Given the description of an element on the screen output the (x, y) to click on. 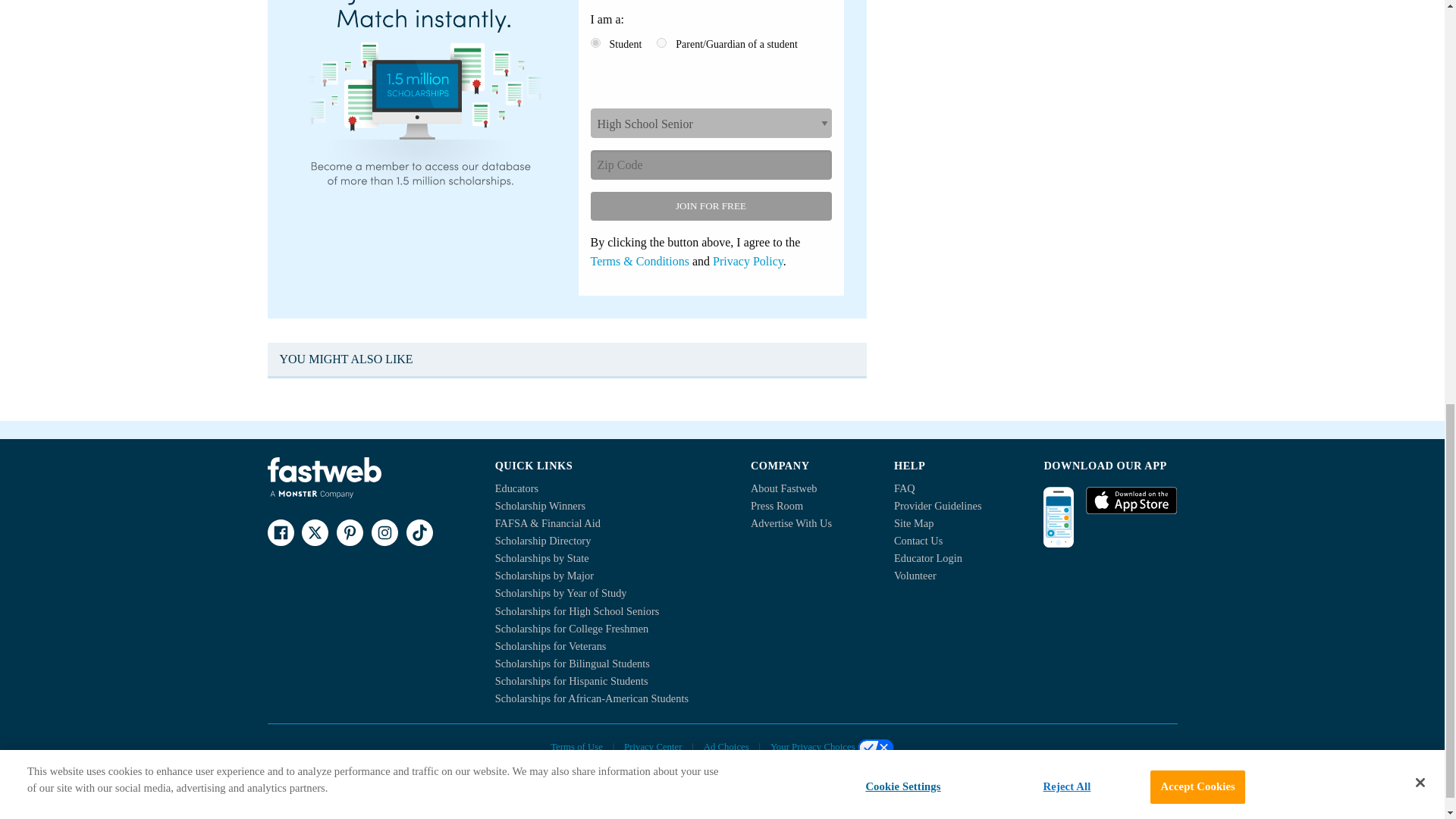
Fastweb on Instagram (384, 532)
Fastweb on Facebook (280, 532)
1 (594, 42)
Fastweb on IOS (1131, 500)
2 (661, 42)
Join for free (710, 205)
Fastweb on Pinterest (349, 532)
Fastweb on TikTok (419, 532)
